Given the description of an element on the screen output the (x, y) to click on. 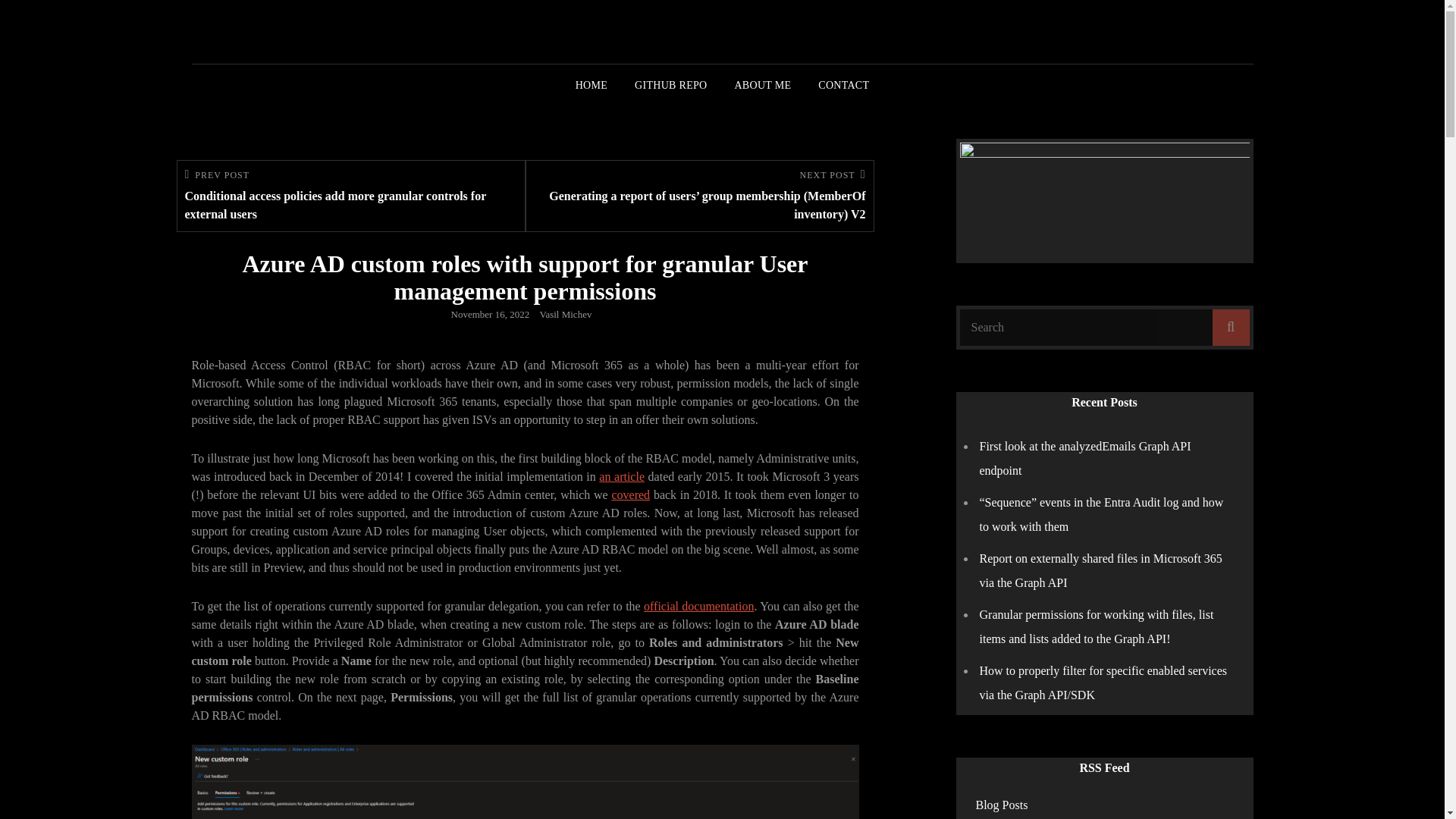
official documentation (698, 605)
HOME (591, 85)
CONTACT (843, 85)
GITHUB REPO (671, 85)
Search (1230, 327)
an article (621, 476)
First look at the analyzedEmails Graph API endpoint (1085, 457)
